Given the description of an element on the screen output the (x, y) to click on. 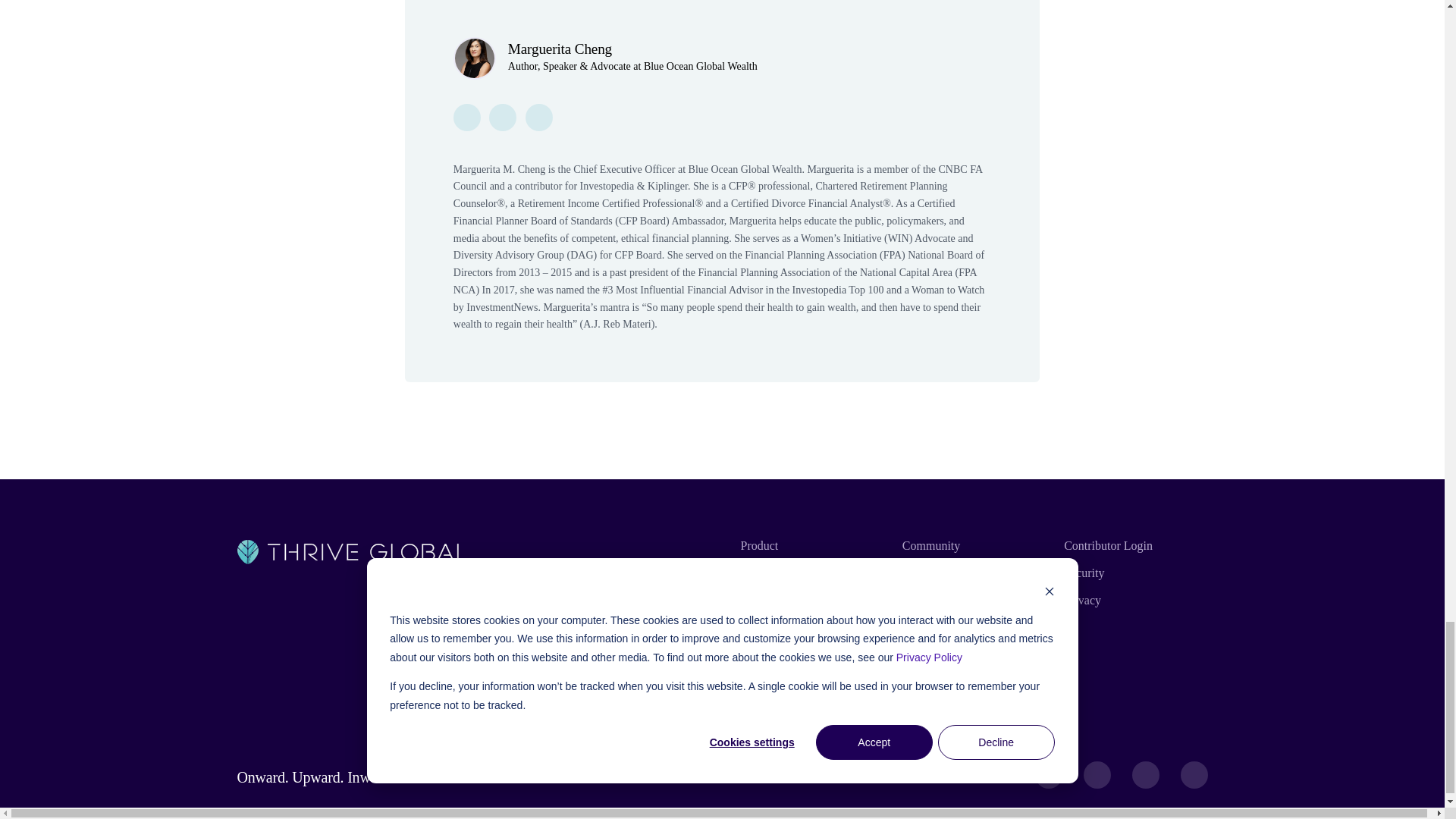
Marguerita Cheng (559, 48)
